Given the description of an element on the screen output the (x, y) to click on. 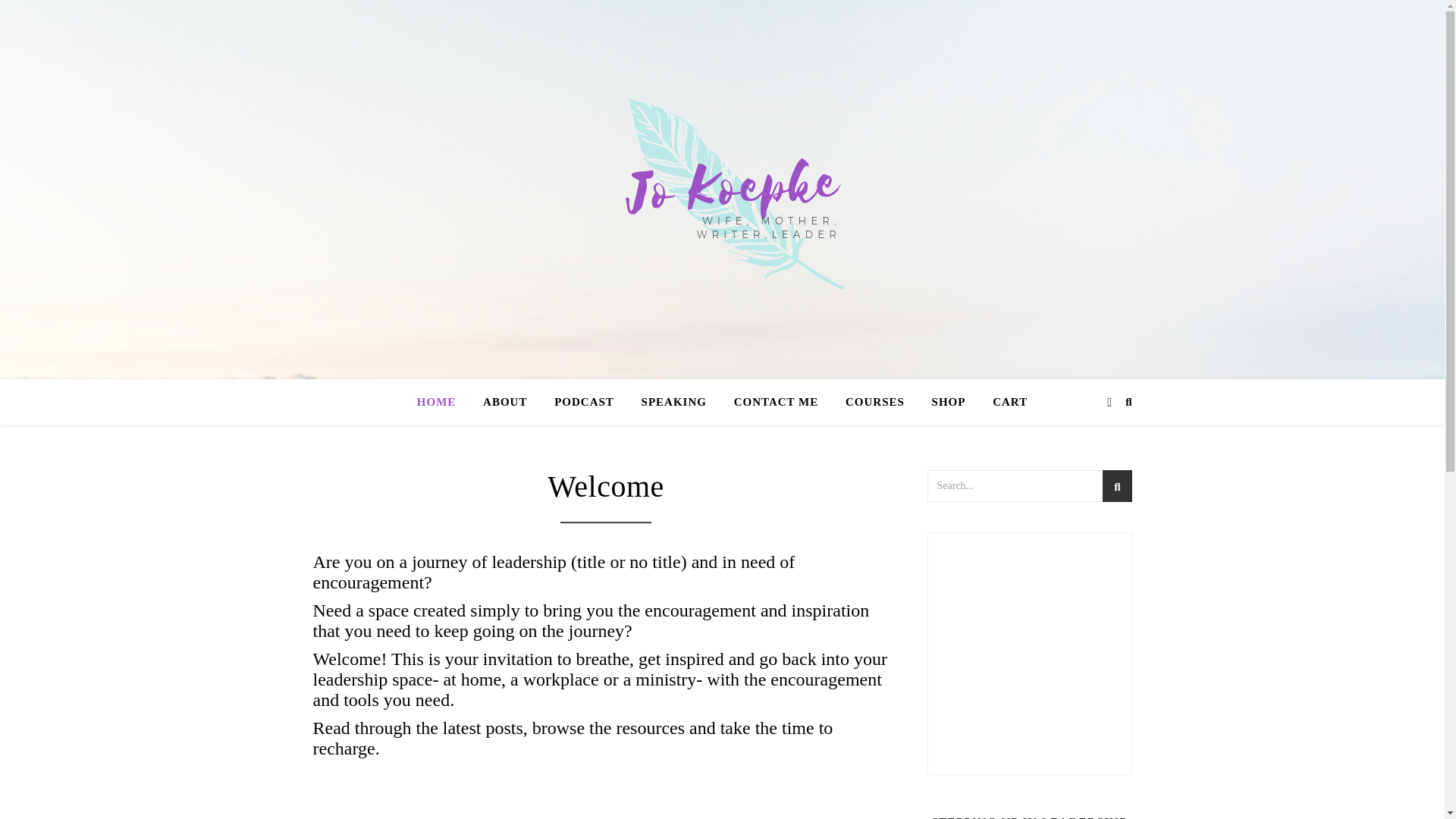
SHOP (949, 402)
HOME (442, 402)
CART (1003, 402)
COURSES (874, 402)
PODCAST (583, 402)
ABOUT (504, 402)
CONTACT ME (776, 402)
SPEAKING (673, 402)
